Given the description of an element on the screen output the (x, y) to click on. 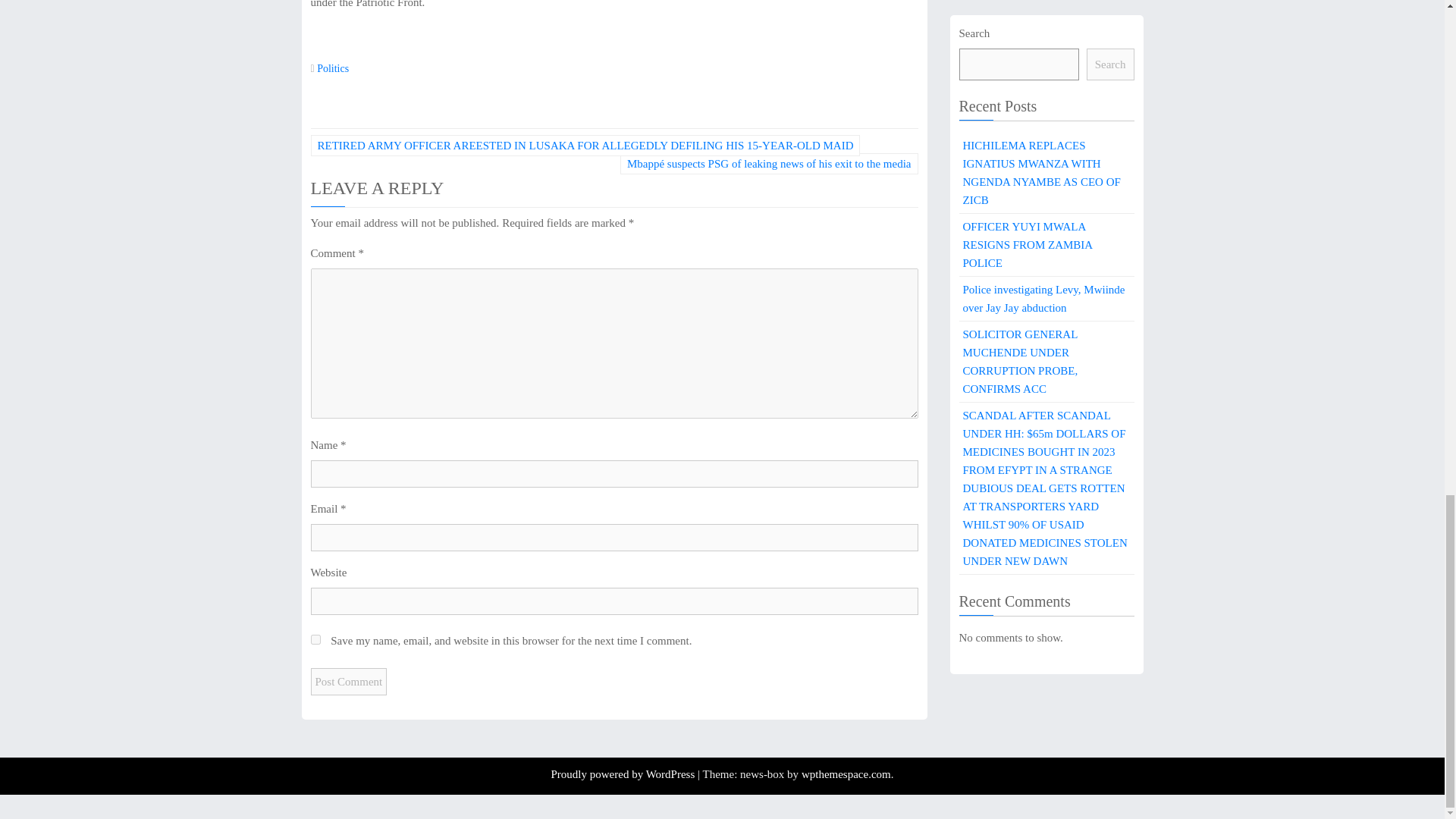
Post Comment (349, 681)
yes (315, 639)
Post Comment (349, 681)
wpthemespace.com (846, 774)
Politics (333, 68)
Proudly powered by WordPress (623, 774)
